Given the description of an element on the screen output the (x, y) to click on. 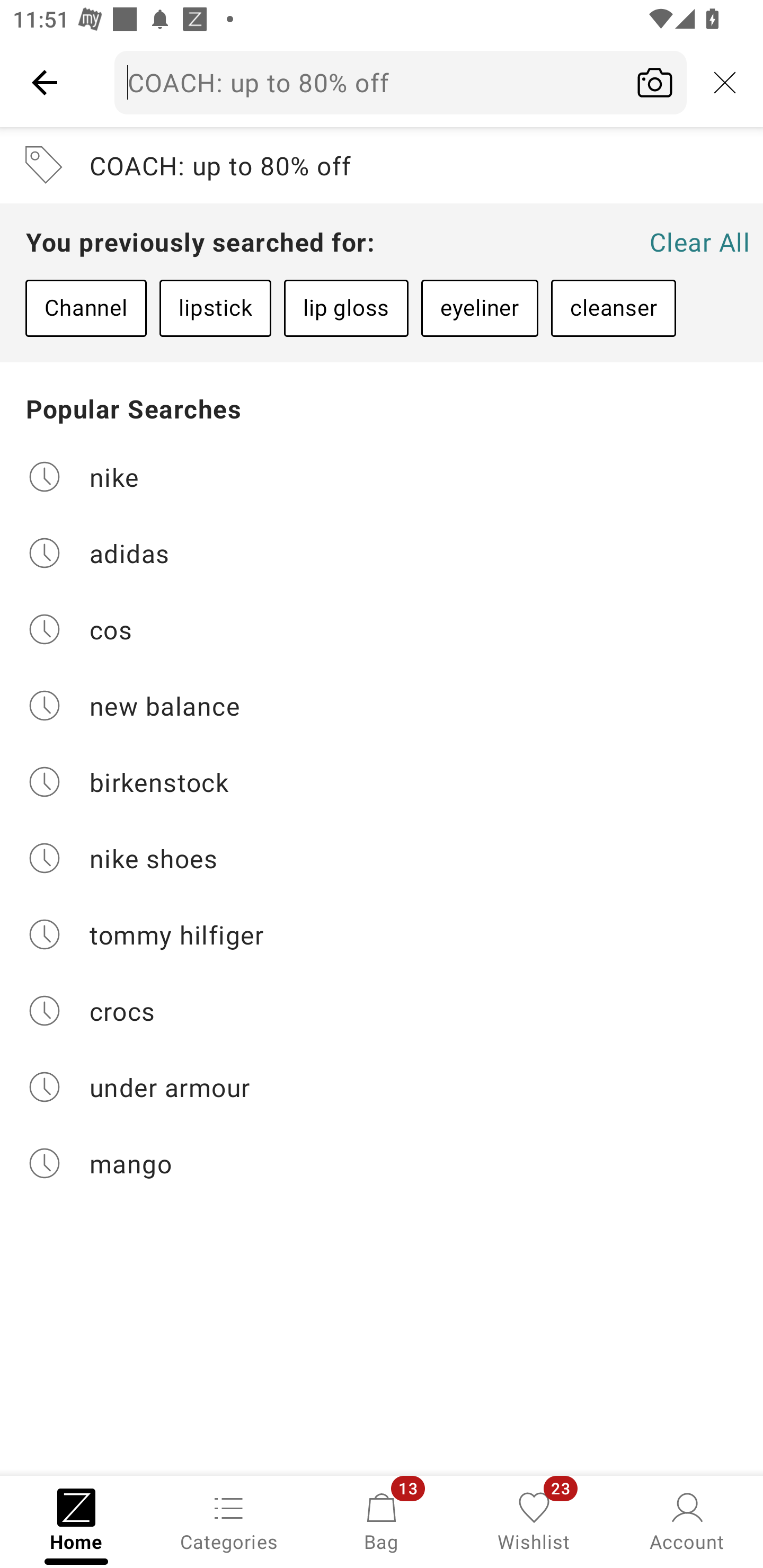
Navigate up (44, 82)
COACH: up to 80% off (400, 82)
COACH: up to 80% off (381, 165)
Clear All (699, 241)
Channel (85, 308)
lipstick (215, 308)
lip gloss (345, 308)
eyeliner (479, 308)
cleanser (613, 308)
nike (381, 476)
adidas (381, 552)
cos (381, 629)
new balance (381, 705)
birkenstock (381, 781)
nike shoes (381, 858)
tommy hilfiger (381, 934)
crocs (381, 1010)
under armour (381, 1086)
mango (381, 1163)
Categories (228, 1519)
Bag, 13 new notifications Bag (381, 1519)
Wishlist, 23 new notifications Wishlist (533, 1519)
Account (686, 1519)
